Given the description of an element on the screen output the (x, y) to click on. 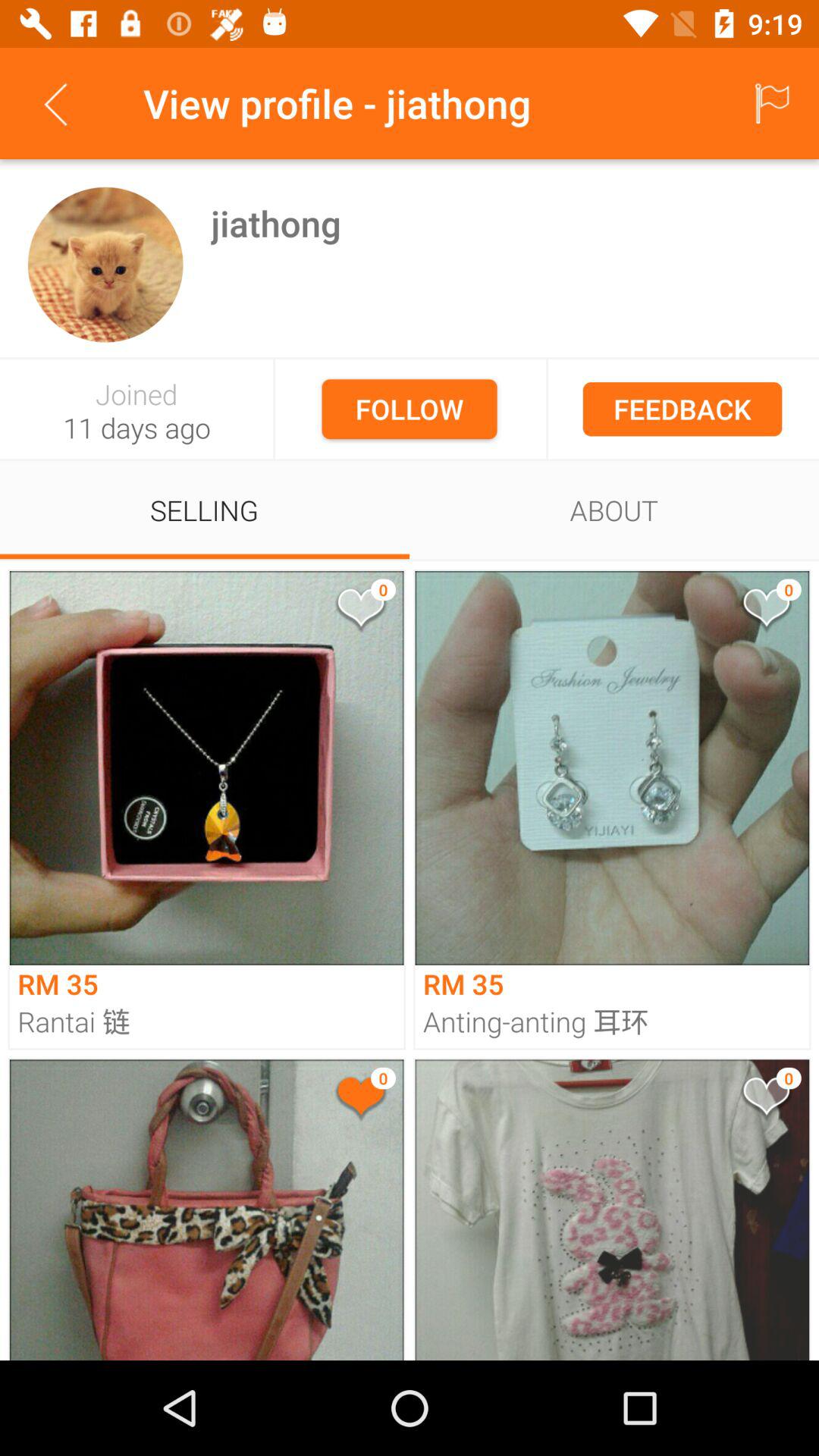
give like (765, 1099)
